Given the description of an element on the screen output the (x, y) to click on. 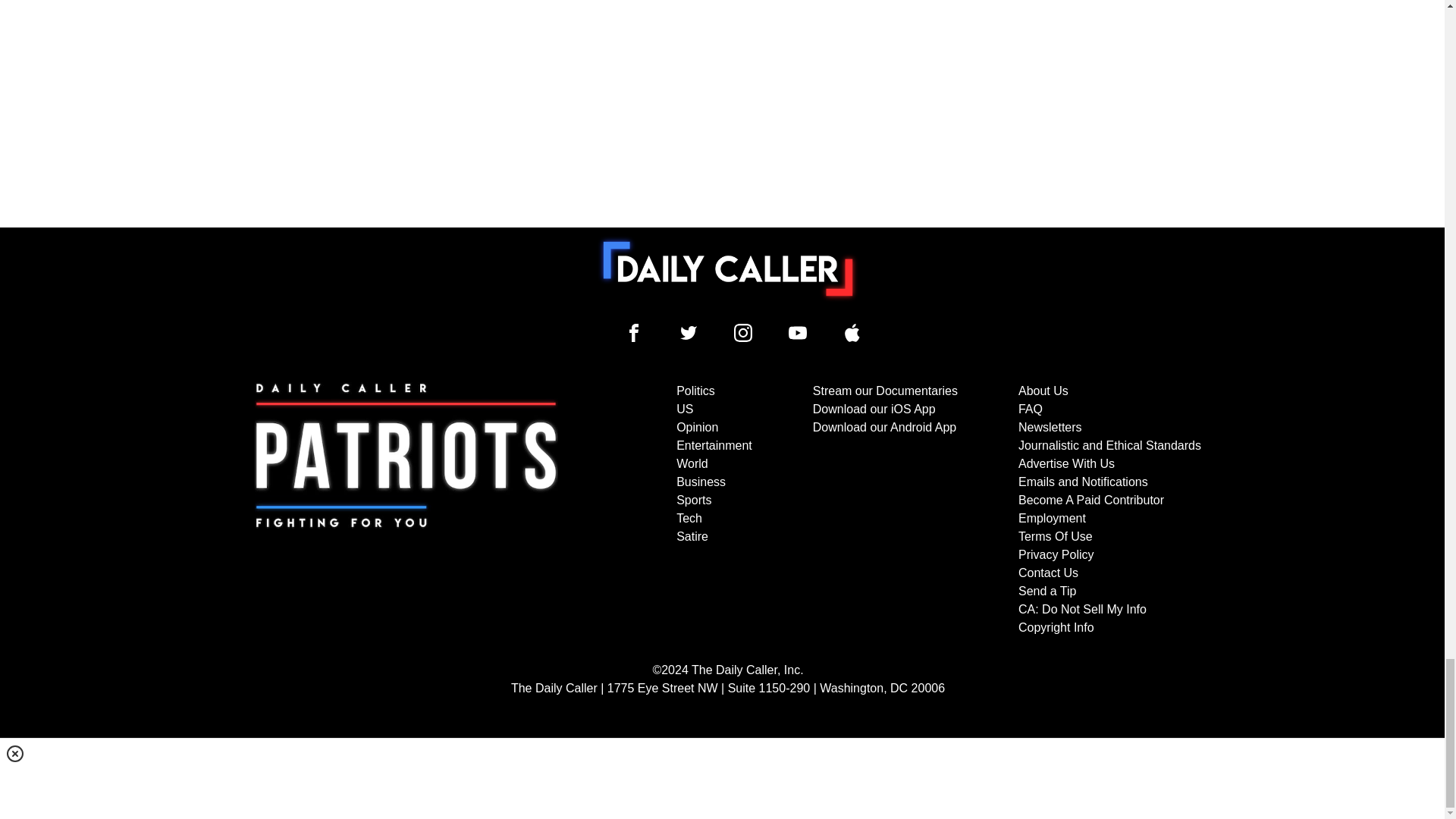
Daily Caller Instagram (742, 332)
Daily Caller Facebook (633, 332)
Daily Caller Twitter (688, 332)
Daily Caller YouTube (797, 332)
Daily Caller YouTube (852, 332)
To home page (727, 268)
